Given the description of an element on the screen output the (x, y) to click on. 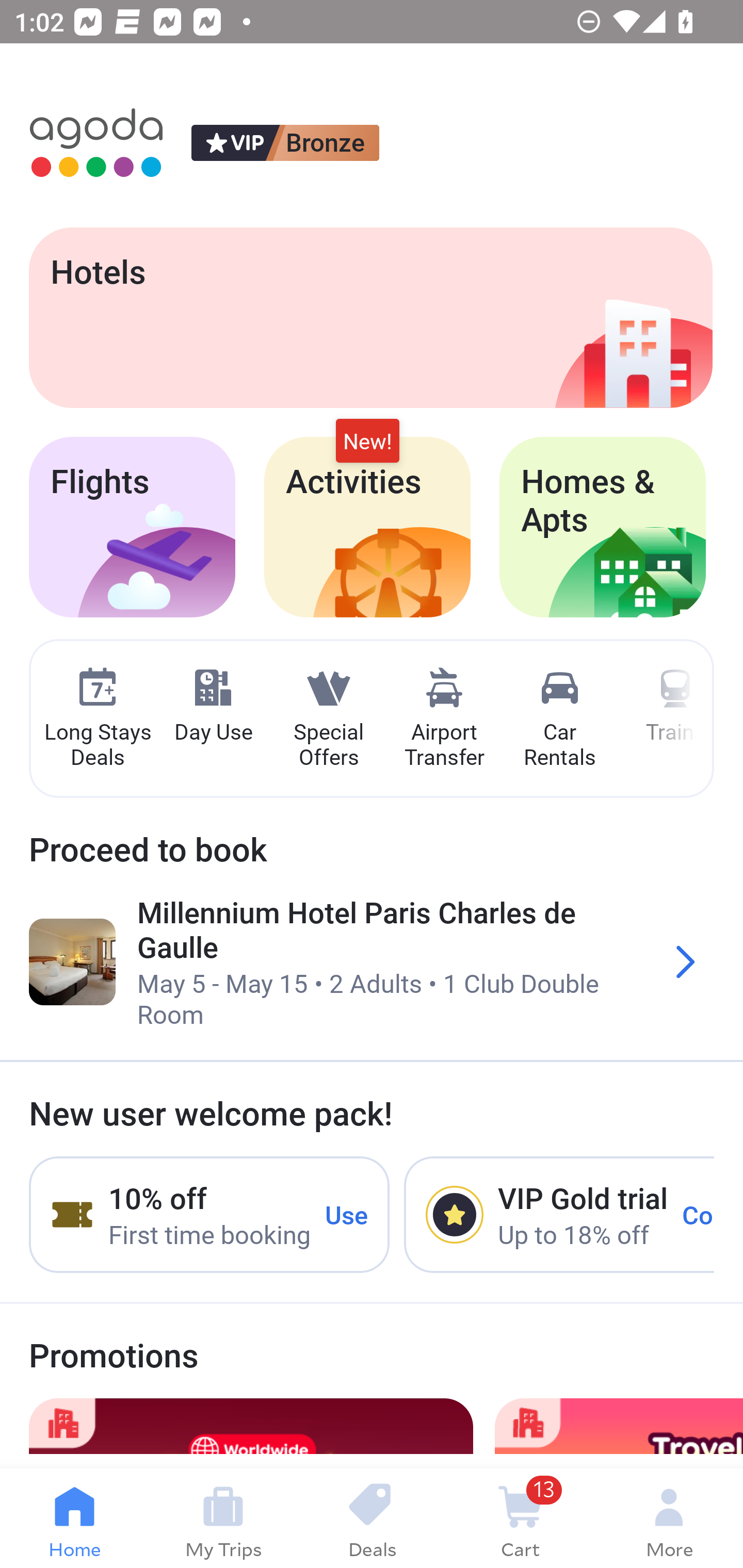
Hotels (370, 317)
New! (367, 441)
Flights (131, 527)
Activities (367, 527)
Homes & Apts (602, 527)
Day Use (213, 706)
Long Stays Deals (97, 718)
Special Offers (328, 718)
Airport Transfer (444, 718)
Car Rentals (559, 718)
Use (346, 1214)
Home (74, 1518)
My Trips (222, 1518)
Deals (371, 1518)
13 Cart (519, 1518)
More (668, 1518)
